Given the description of an element on the screen output the (x, y) to click on. 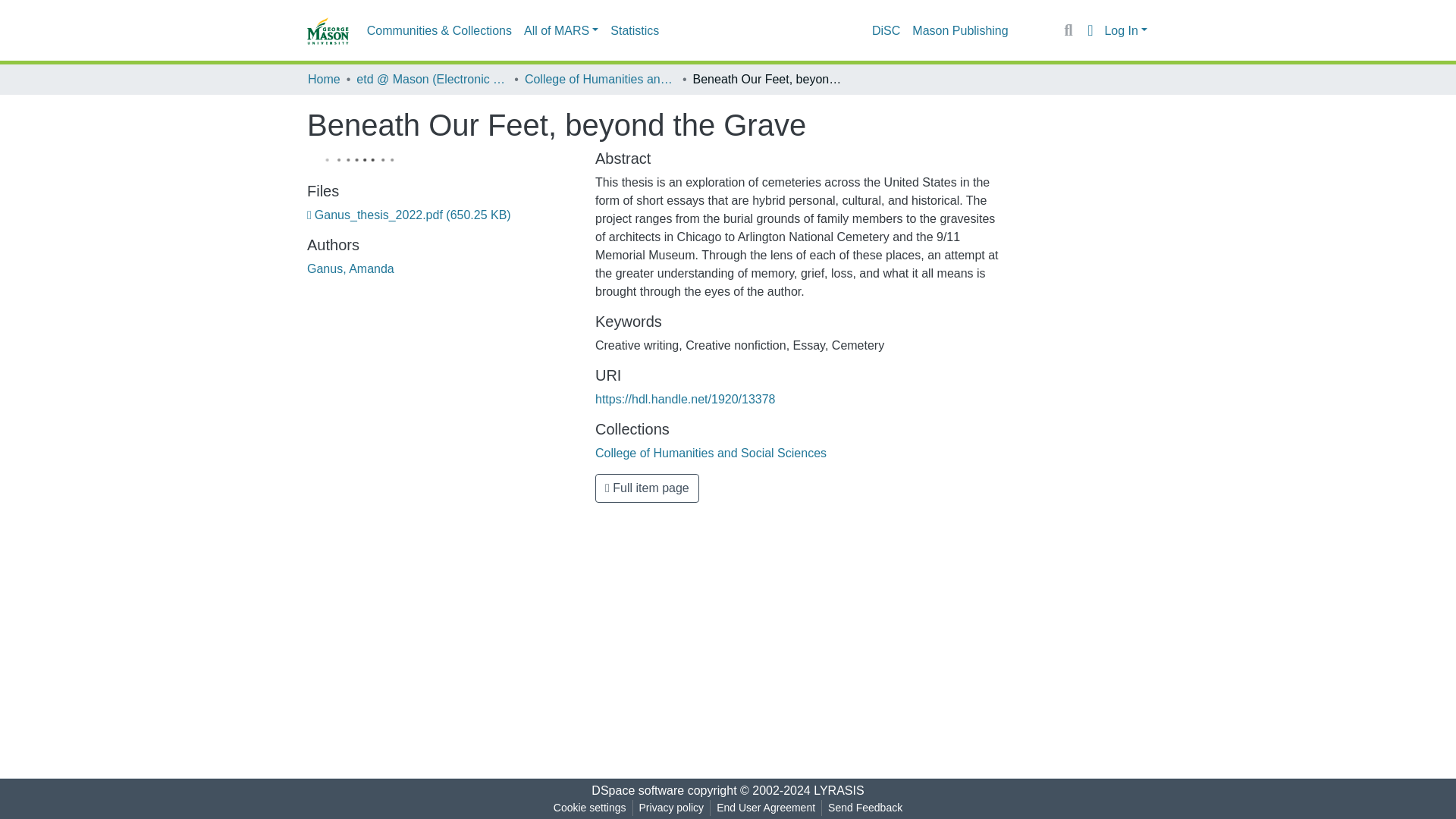
College of Humanities and Social Sciences (711, 452)
All of MARS (561, 30)
Home (323, 79)
Mason Publishing (959, 30)
LYRASIS (838, 789)
Statistics (634, 30)
Send Feedback (865, 807)
Full item page (646, 488)
DSpace software (637, 789)
Cookie settings (589, 807)
Statistics (634, 30)
Privacy policy (671, 807)
End User Agreement (765, 807)
Ganus, Amanda (350, 268)
Language switch (1089, 30)
